Given the description of an element on the screen output the (x, y) to click on. 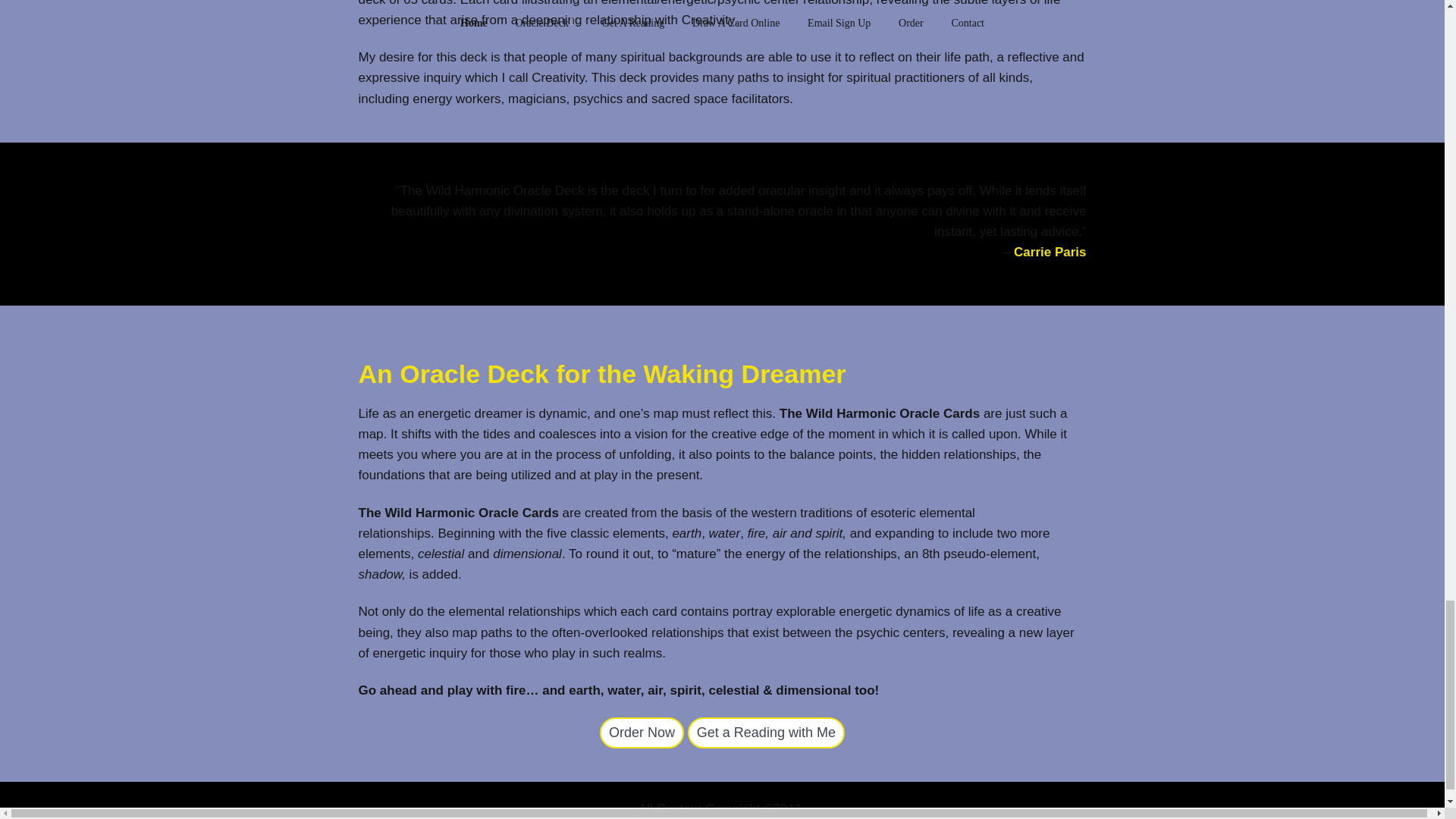
Card Guide (765, 732)
Order Now (641, 732)
Card Guide (641, 732)
Get a Reading with Me (765, 732)
Carrie Paris (1049, 251)
